Given the description of an element on the screen output the (x, y) to click on. 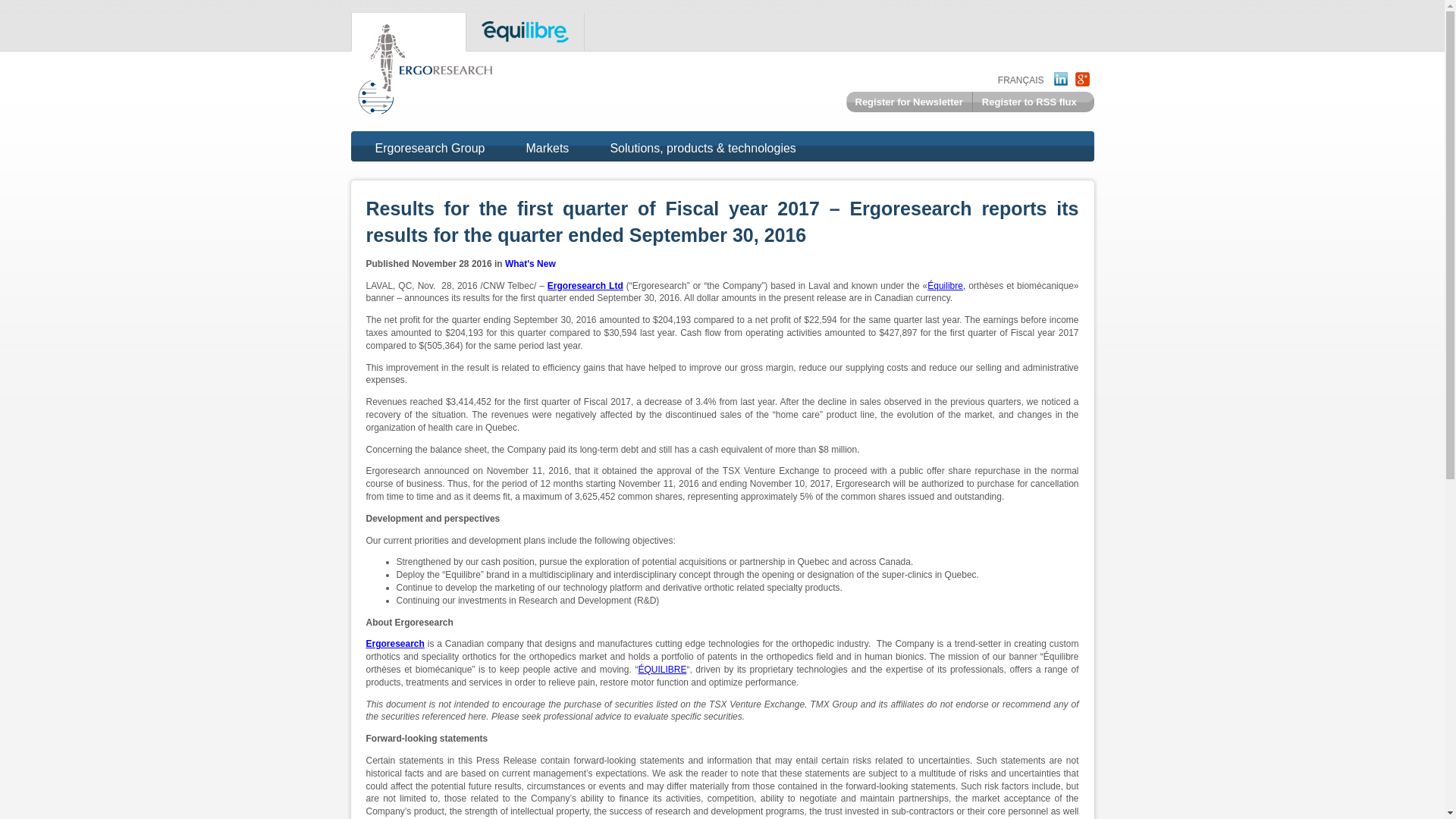
Register to RSS flux (1029, 101)
Ergoresearch (394, 643)
Register for Newsletter (909, 101)
What's New (530, 263)
Markets (547, 150)
Ergoresearch Group (429, 150)
Ergoresearch Ltd (585, 285)
